Given the description of an element on the screen output the (x, y) to click on. 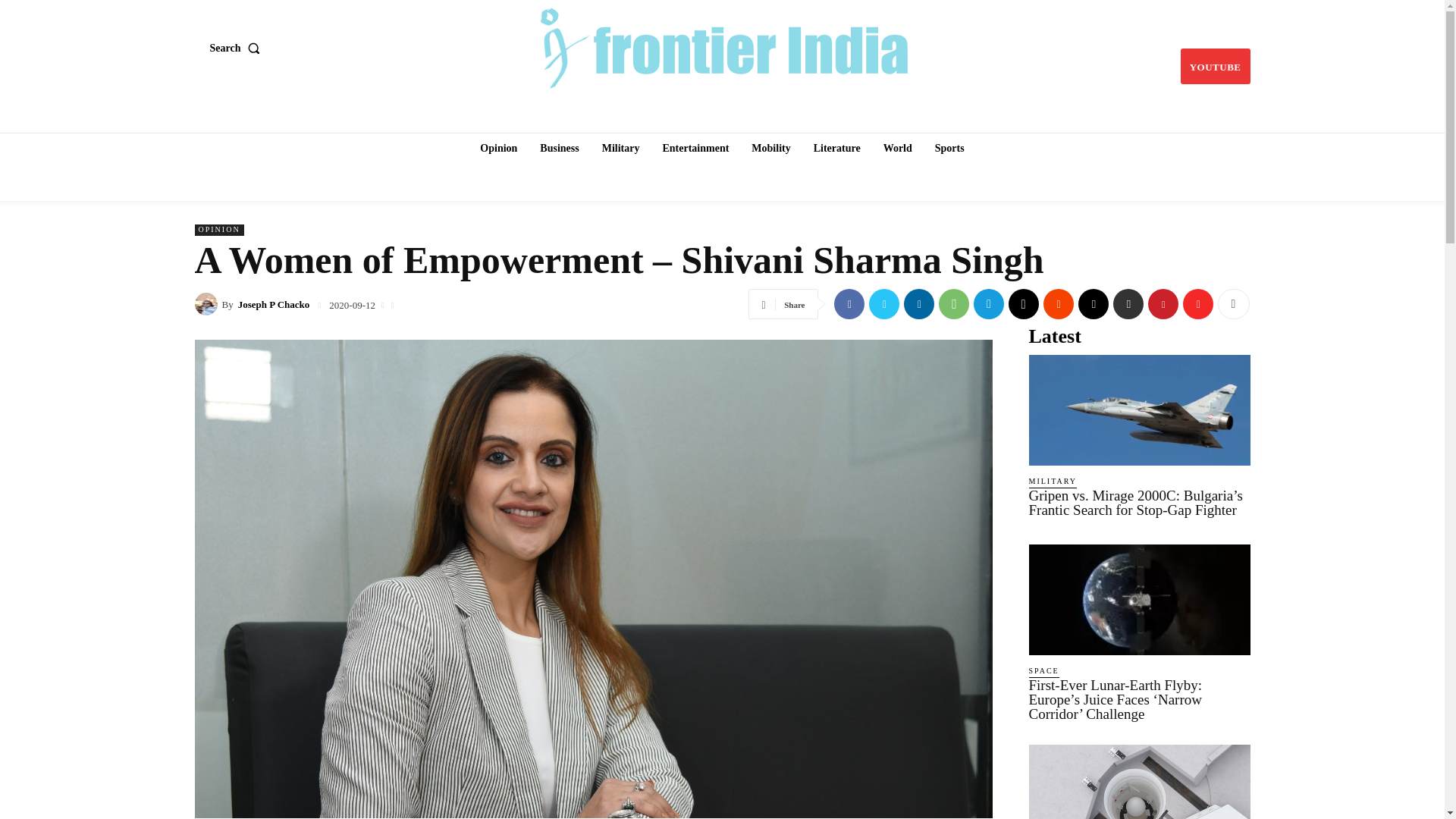
Search (237, 47)
Frontier India (723, 46)
Opinion (497, 148)
Joseph P Chacko (207, 303)
Facebook (849, 304)
YouTube (1215, 66)
Literature (836, 148)
YOUTUBE (1215, 66)
Entertainment (694, 148)
Mobility (770, 148)
Sports (949, 148)
Frontier India (724, 46)
Business (559, 148)
Military (620, 148)
World (898, 148)
